Given the description of an element on the screen output the (x, y) to click on. 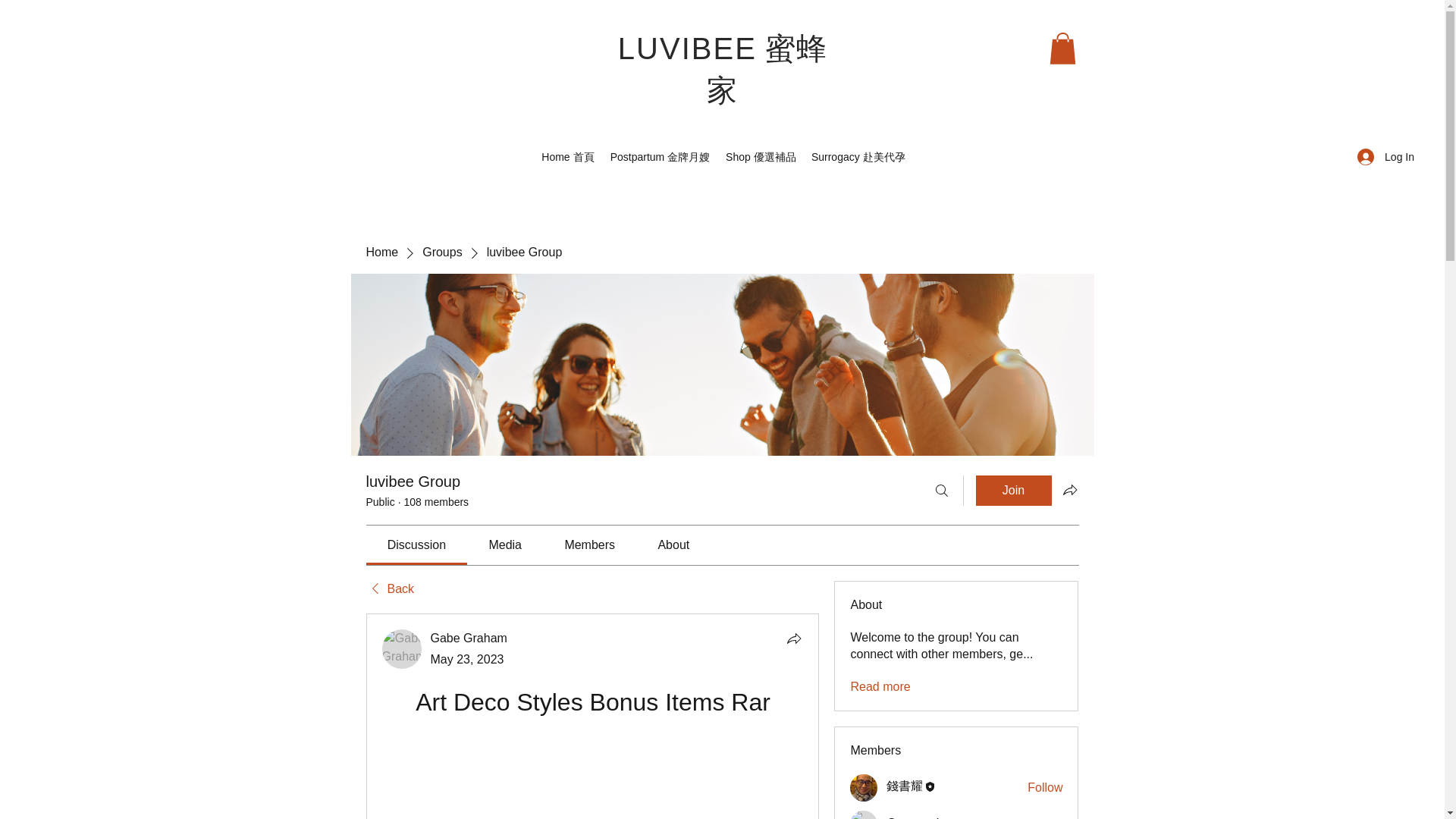
Log In (1385, 157)
Back (389, 588)
Guzman Lopez (927, 817)
Gabe Graham (468, 637)
Guzman Lopez (863, 814)
Join (1013, 490)
Follow (1044, 787)
Groups (441, 252)
Gabe Graham (401, 649)
Follow (1044, 817)
